Given the description of an element on the screen output the (x, y) to click on. 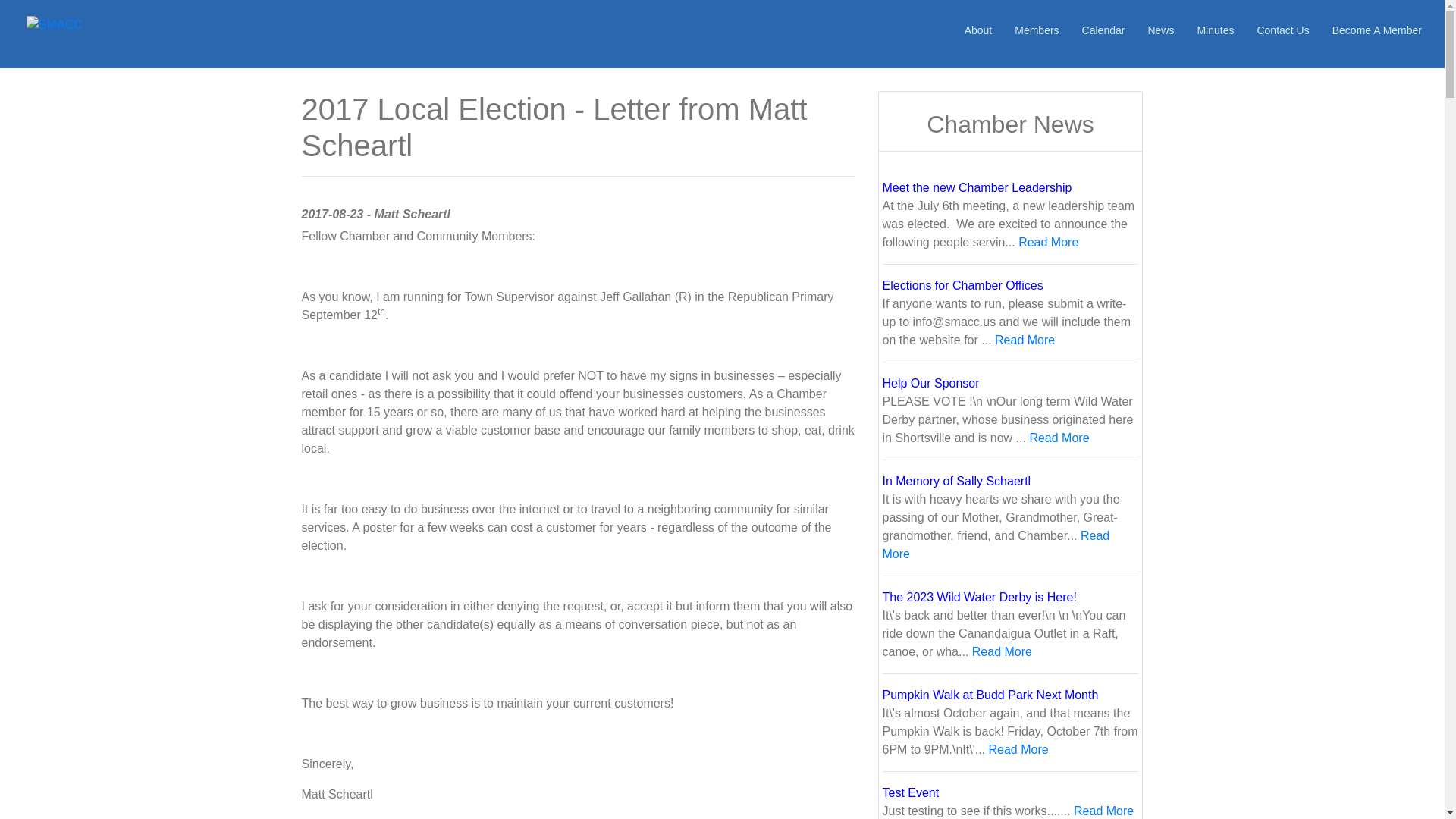
Elections for Chamber Offices (962, 285)
Read More (1024, 339)
Read More (1047, 241)
Test Event (910, 792)
In Memory of Sally Schaertl (956, 481)
About (978, 30)
Minutes (1214, 30)
News (1160, 30)
Become A Member (1376, 30)
Pumpkin Walk at Budd Park Next Month (990, 694)
Read More (1002, 651)
Members (1036, 30)
Read More (995, 544)
Contact Us (1282, 30)
Read More (1059, 437)
